Given the description of an element on the screen output the (x, y) to click on. 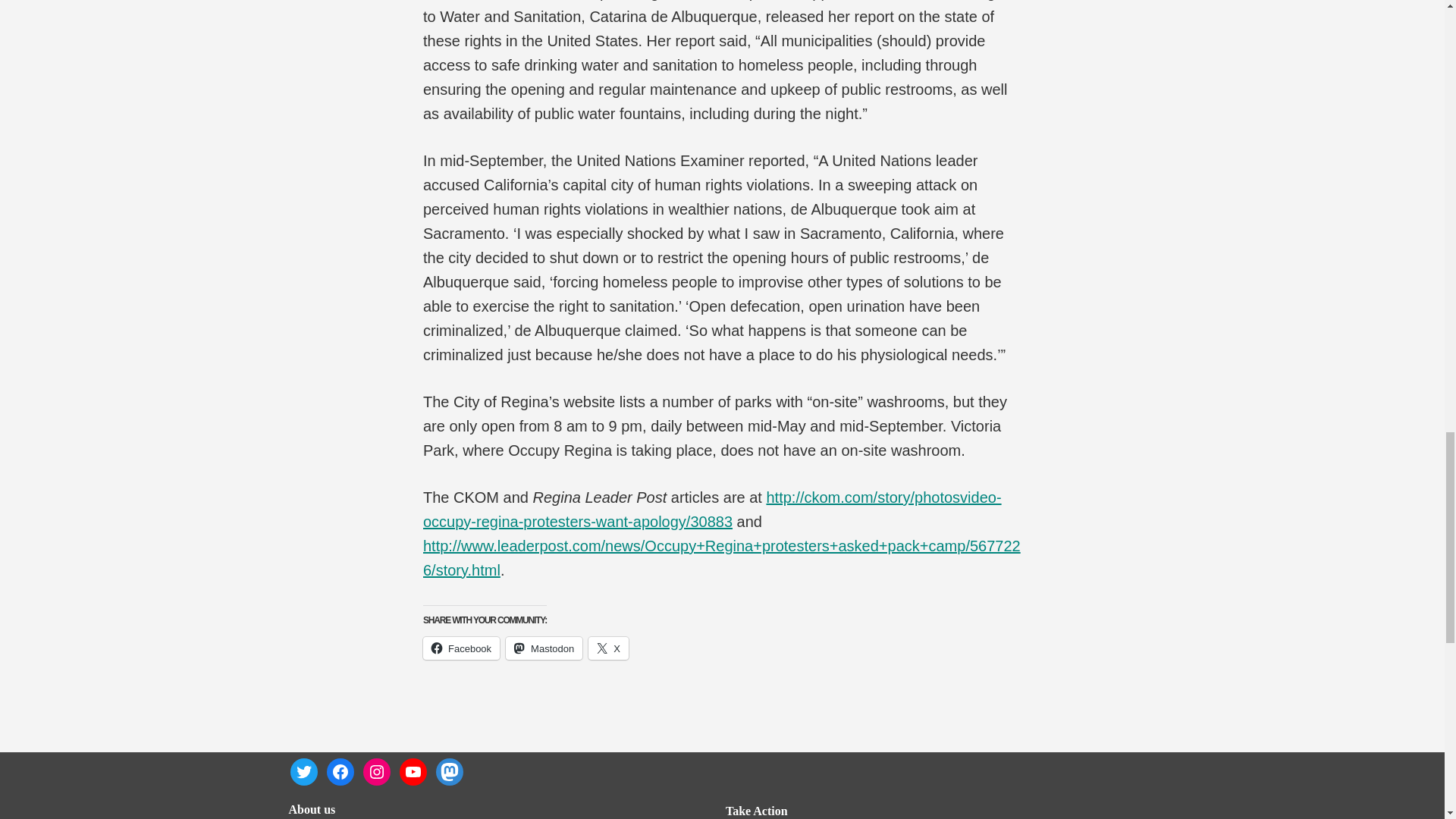
Click to share on Facebook (461, 648)
About us (311, 809)
Mastodon (543, 648)
X (608, 648)
Click to share on X (608, 648)
Click to share on Mastodon (543, 648)
Facebook (461, 648)
